Given the description of an element on the screen output the (x, y) to click on. 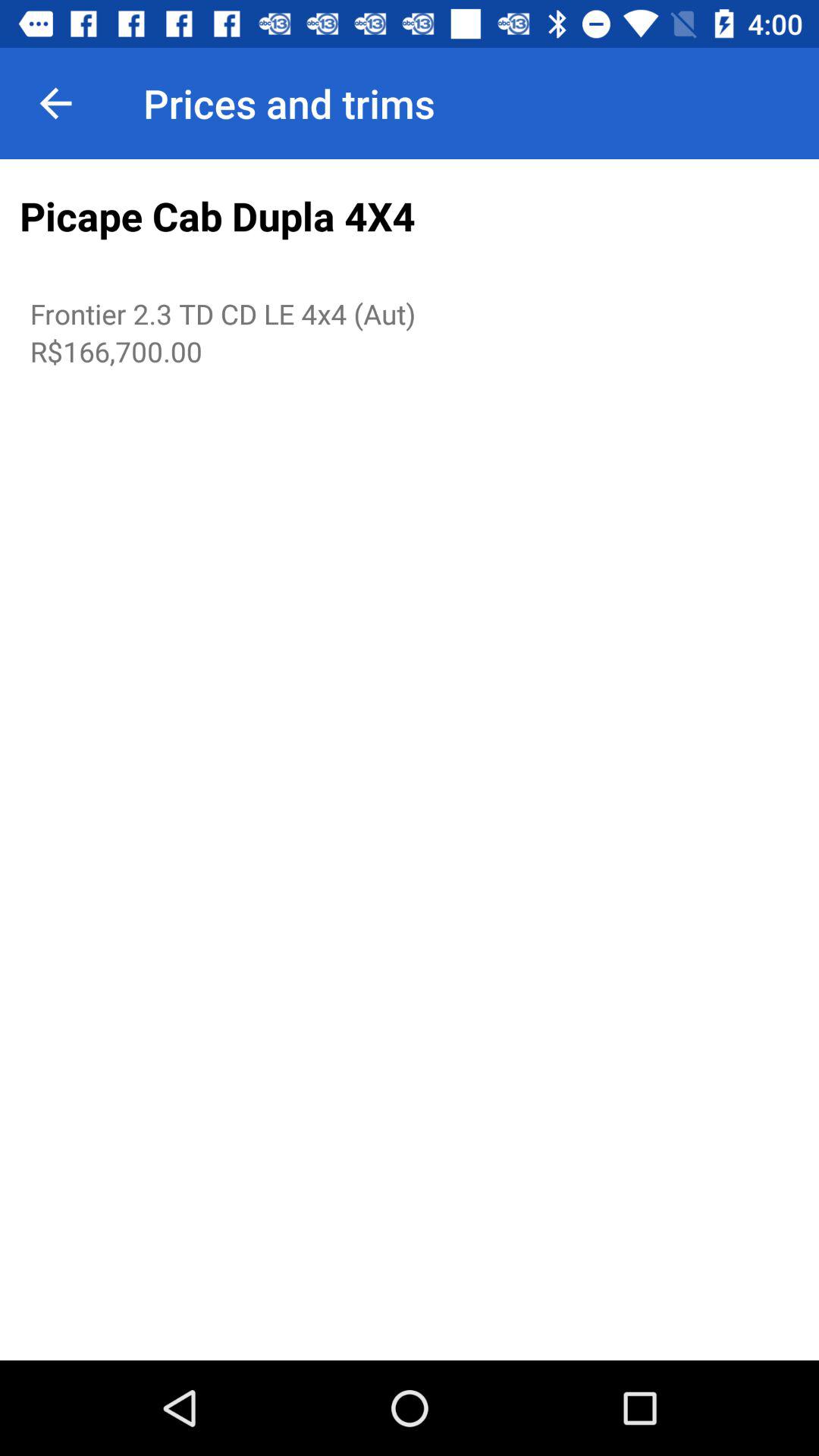
tap icon at the top left corner (55, 103)
